Given the description of an element on the screen output the (x, y) to click on. 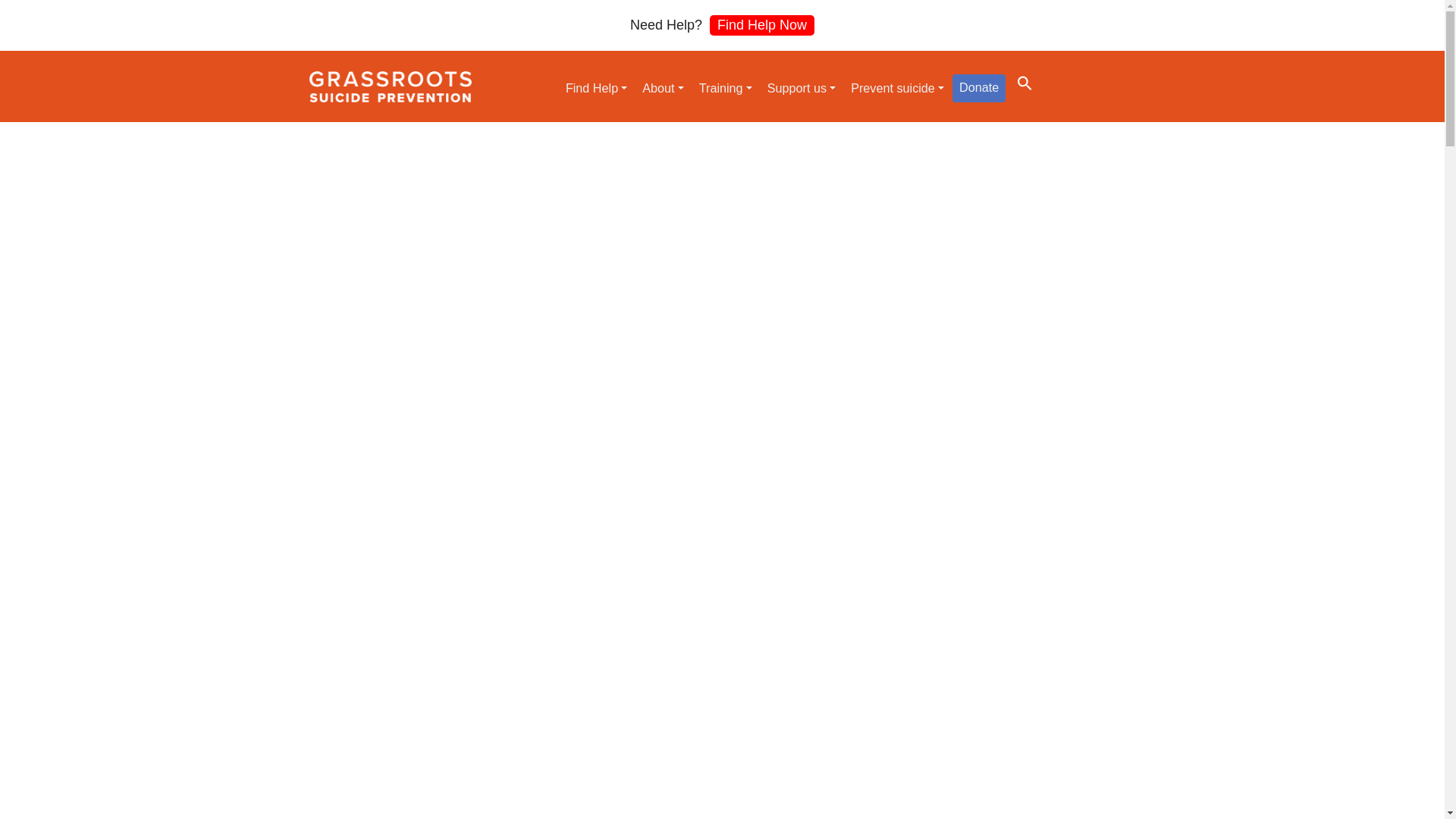
Support us (801, 88)
Prevent suicide (897, 88)
Training (725, 88)
Find Help (596, 88)
Donate (979, 88)
Training (725, 88)
Find Help (596, 88)
About (662, 88)
Find Help Now (761, 25)
About (662, 88)
